Given the description of an element on the screen output the (x, y) to click on. 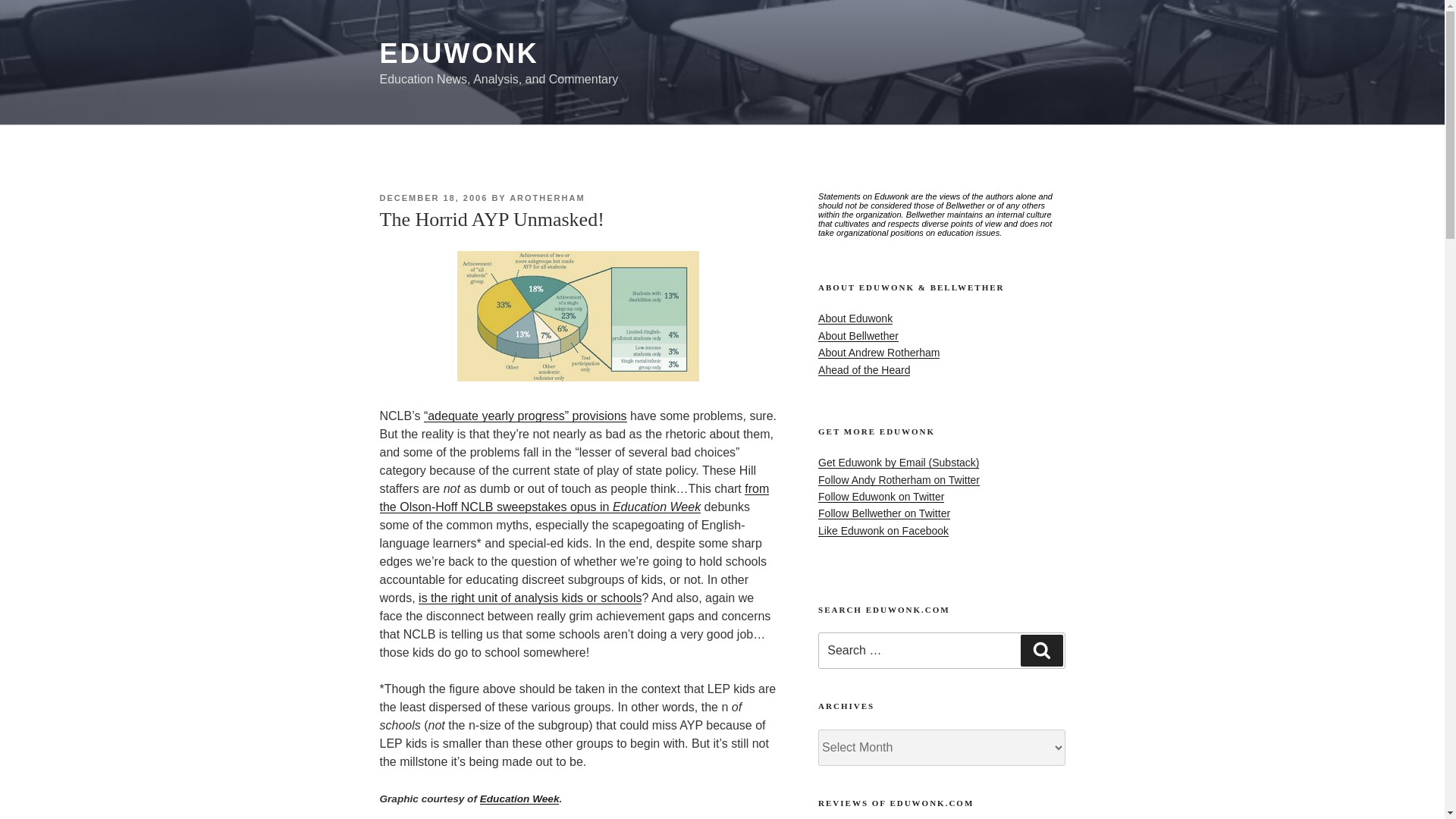
DECEMBER 18, 2006 (432, 197)
About Andrew Rotherham (878, 352)
is the right unit of analysis kids or schools (530, 597)
Ahead of the Heard (864, 369)
Like Eduwonk on Facebook (883, 530)
About Eduwonk (855, 318)
from the Olson-Hoff NCLB sweepstakes opus in Education Week (573, 497)
Follow Andy Rotherham on Twitter (898, 480)
About Bellwether (858, 336)
AROTHERHAM (547, 197)
